Given the description of an element on the screen output the (x, y) to click on. 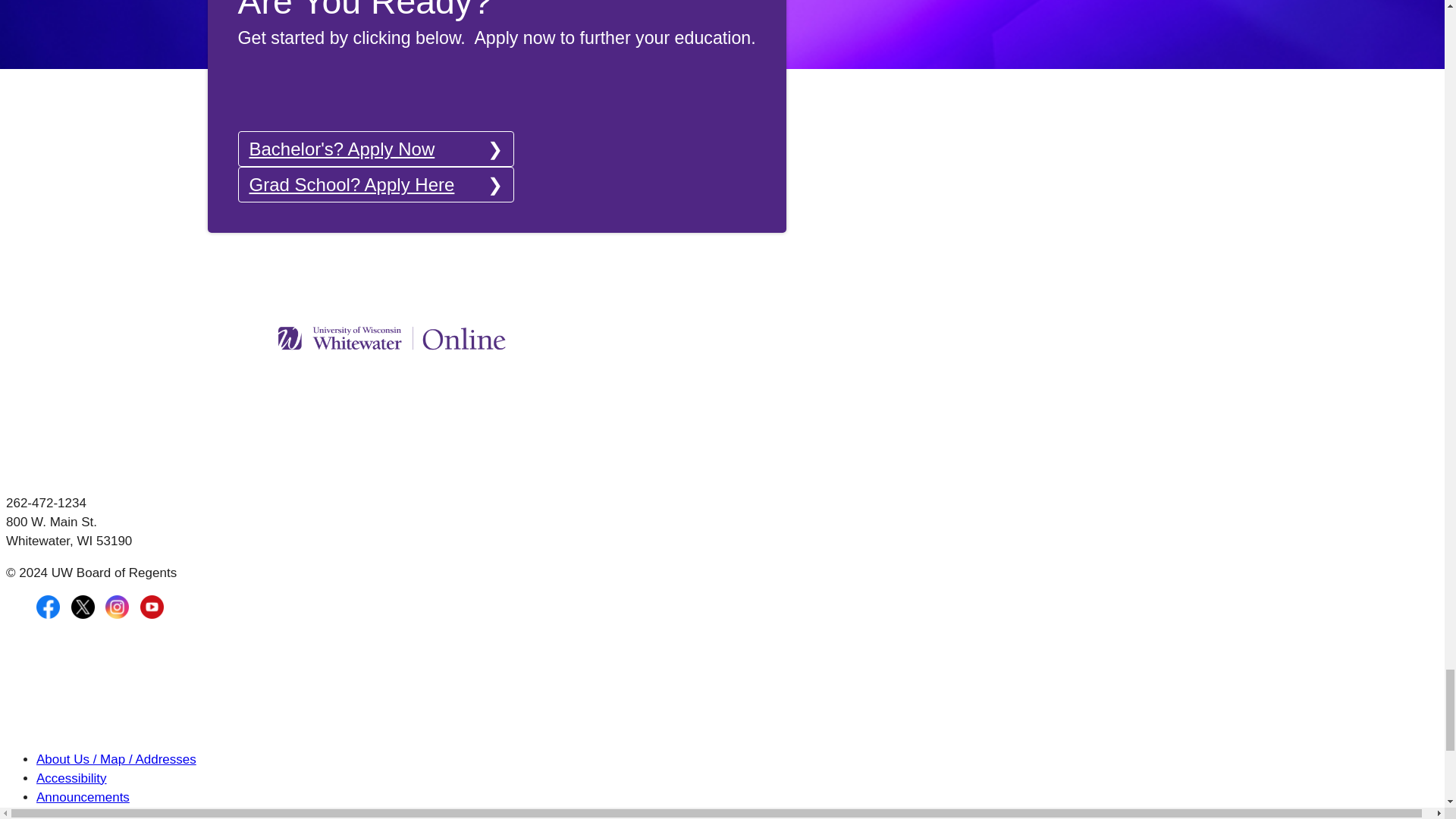
Bachelor's? Apply Now (376, 149)
University of Wisconsin-Whitewater Online (391, 338)
Grad School? Apply Here (376, 184)
